Given the description of an element on the screen output the (x, y) to click on. 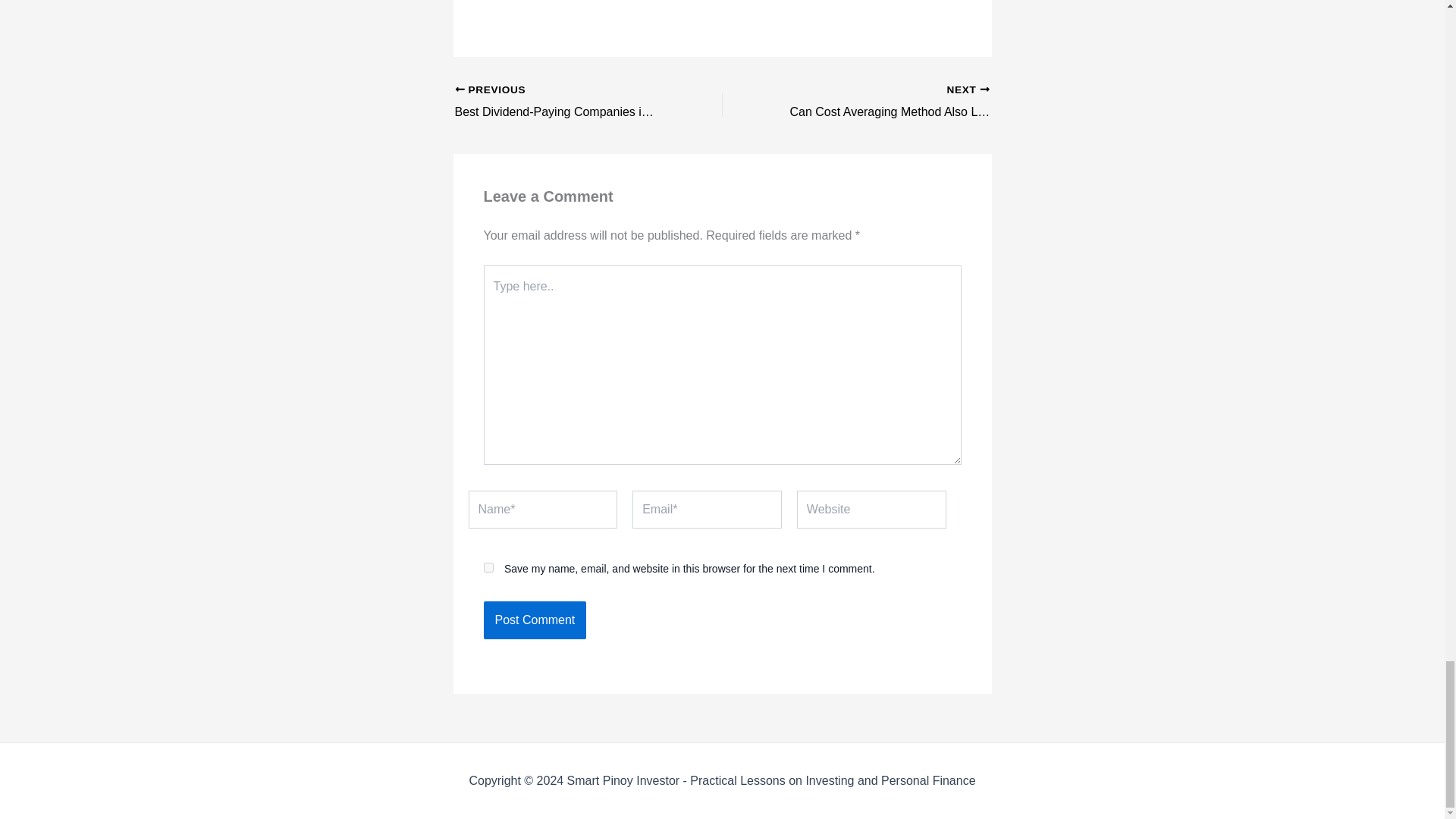
Post Comment (534, 620)
Can Cost Averaging Method Also Lose Money? (882, 102)
yes (488, 567)
